Given the description of an element on the screen output the (x, y) to click on. 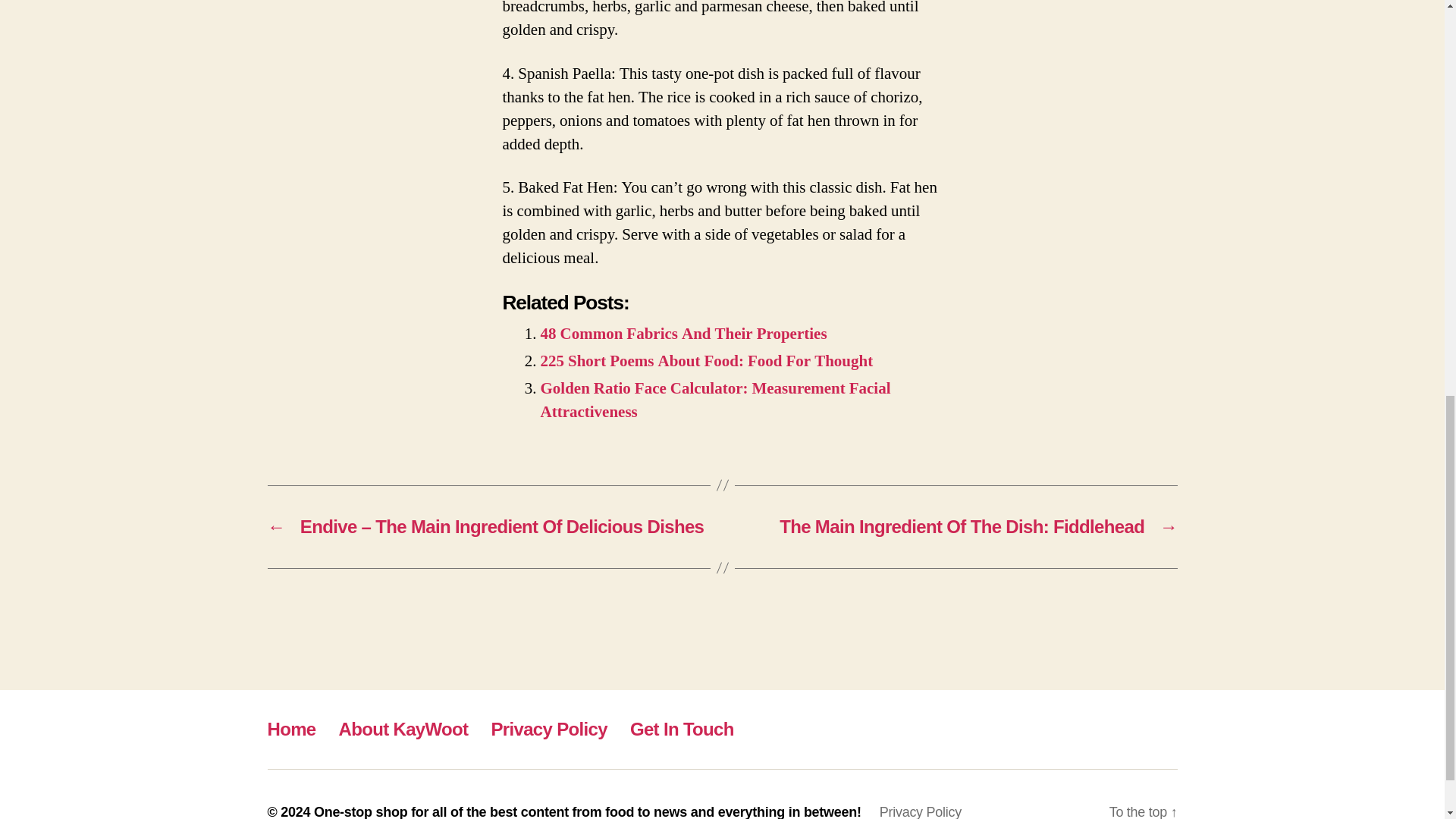
48 Common Fabrics And Their Properties (683, 333)
225 Short Poems About Food: Food For Thought (706, 361)
